Given the description of an element on the screen output the (x, y) to click on. 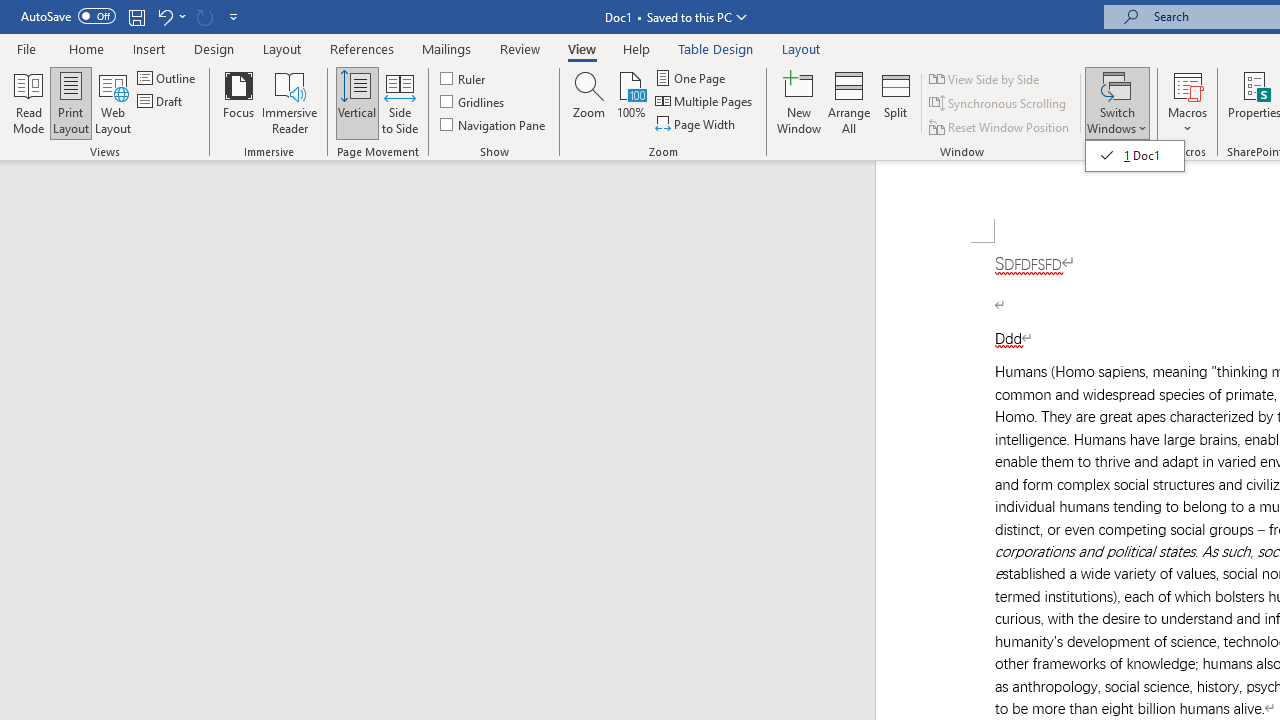
Gridlines (473, 101)
Ruler (463, 78)
100% (630, 102)
Navigation Pane (493, 124)
Switch Windows (1117, 102)
Web Layout (113, 102)
Vertical (356, 102)
Save (136, 15)
View Side by Side (985, 78)
Switch Windows (1135, 155)
Review (520, 48)
Home (86, 48)
